Given the description of an element on the screen output the (x, y) to click on. 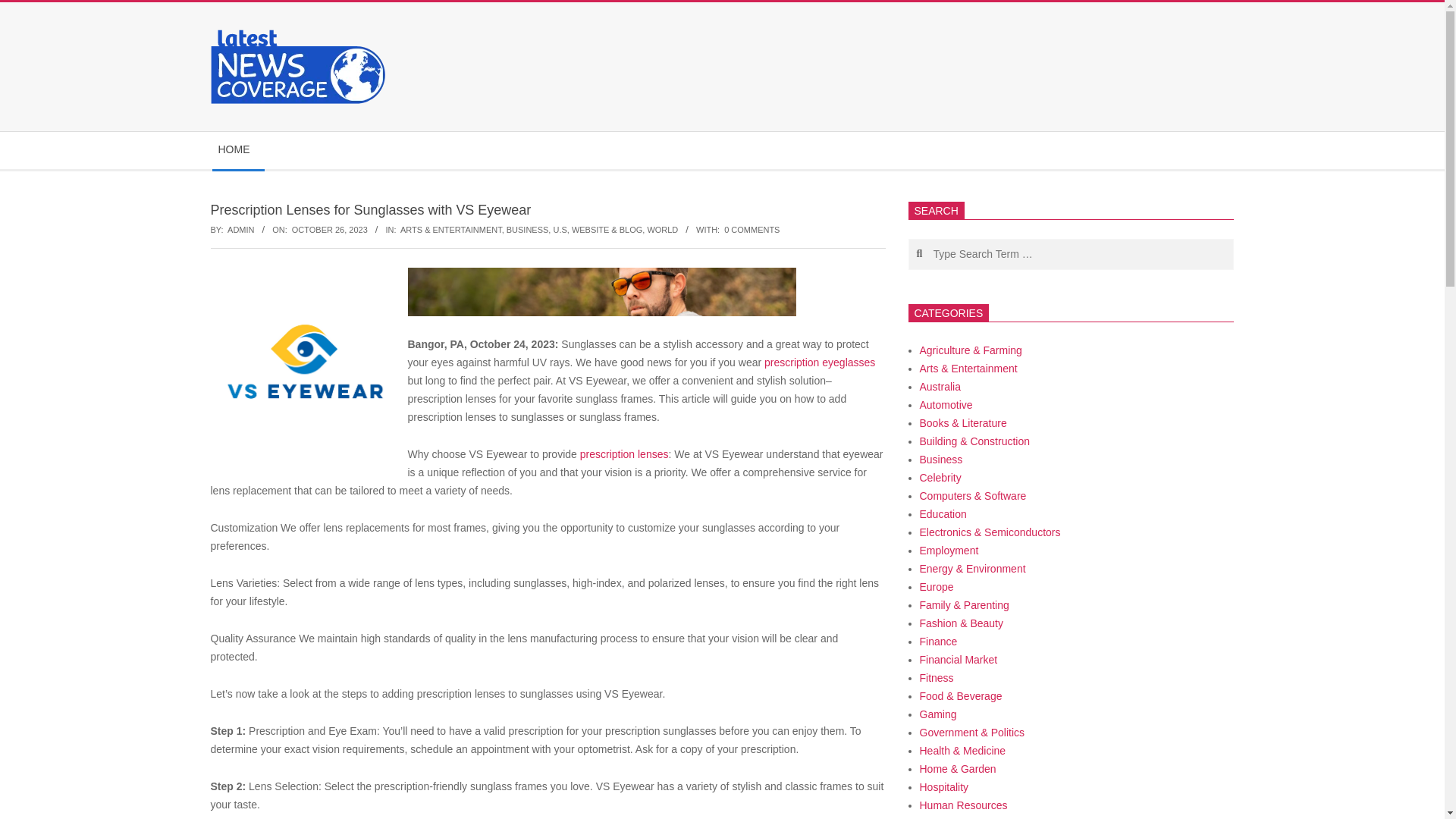
WORLD (662, 229)
Europe (935, 586)
Automotive (945, 404)
Business (940, 459)
U.S (559, 229)
Education (942, 513)
prescription lenses (622, 453)
ADMIN (240, 229)
Australia (938, 386)
Thursday, October 26, 2023, 12:00 am (330, 229)
HOME (237, 149)
Employment (948, 550)
Posts by admin (240, 229)
BUSINESS (527, 229)
prescription eyeglasses (818, 362)
